Given the description of an element on the screen output the (x, y) to click on. 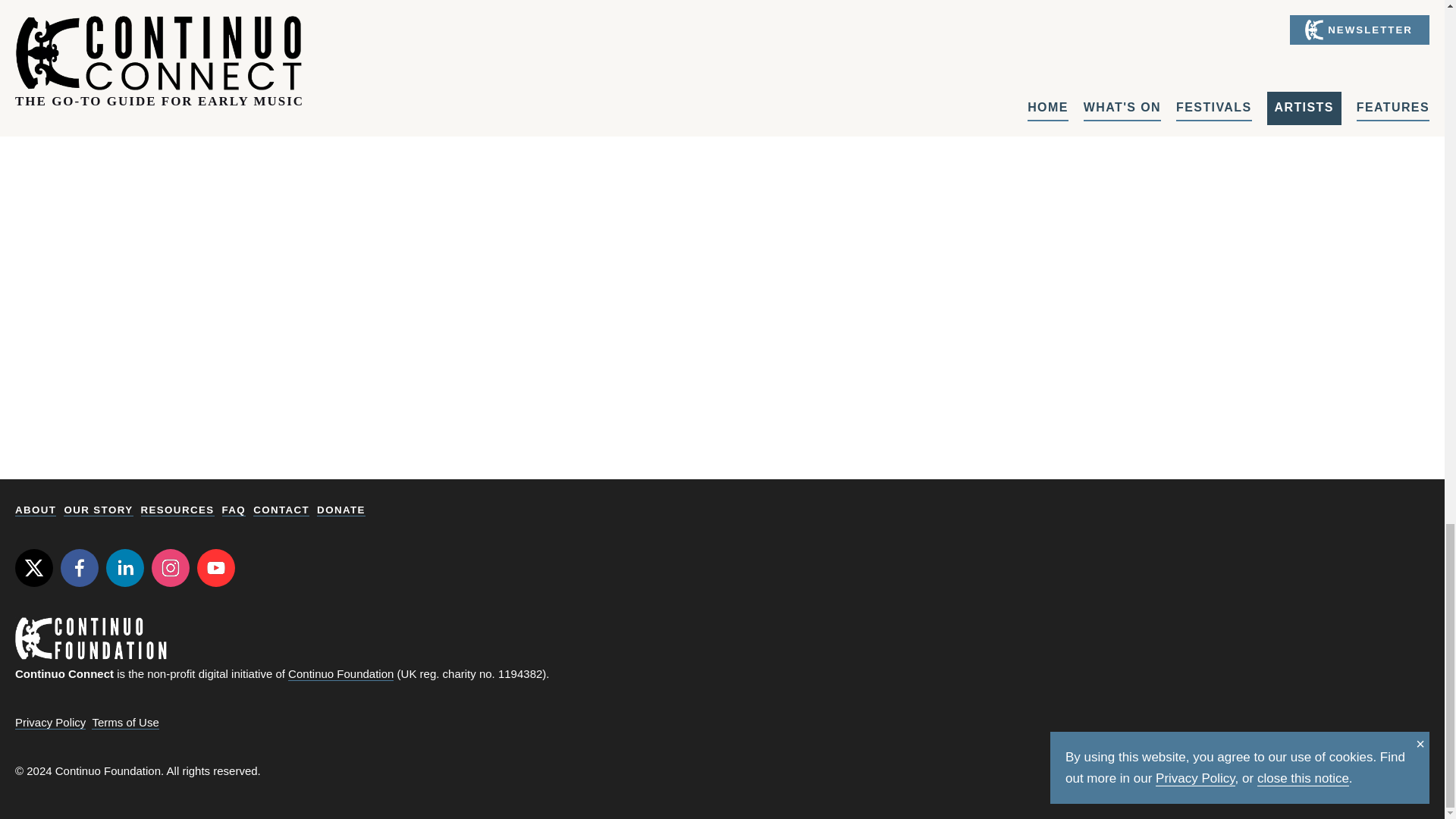
OUR STORY (98, 510)
CONTACT (280, 510)
Privacy Policy (49, 722)
RESOURCES (177, 510)
Continuo Foundation (90, 638)
Terms of Use (124, 722)
FAQ (234, 510)
ABOUT (35, 510)
Continuo Foundation (340, 673)
DONATE (341, 510)
